Given the description of an element on the screen output the (x, y) to click on. 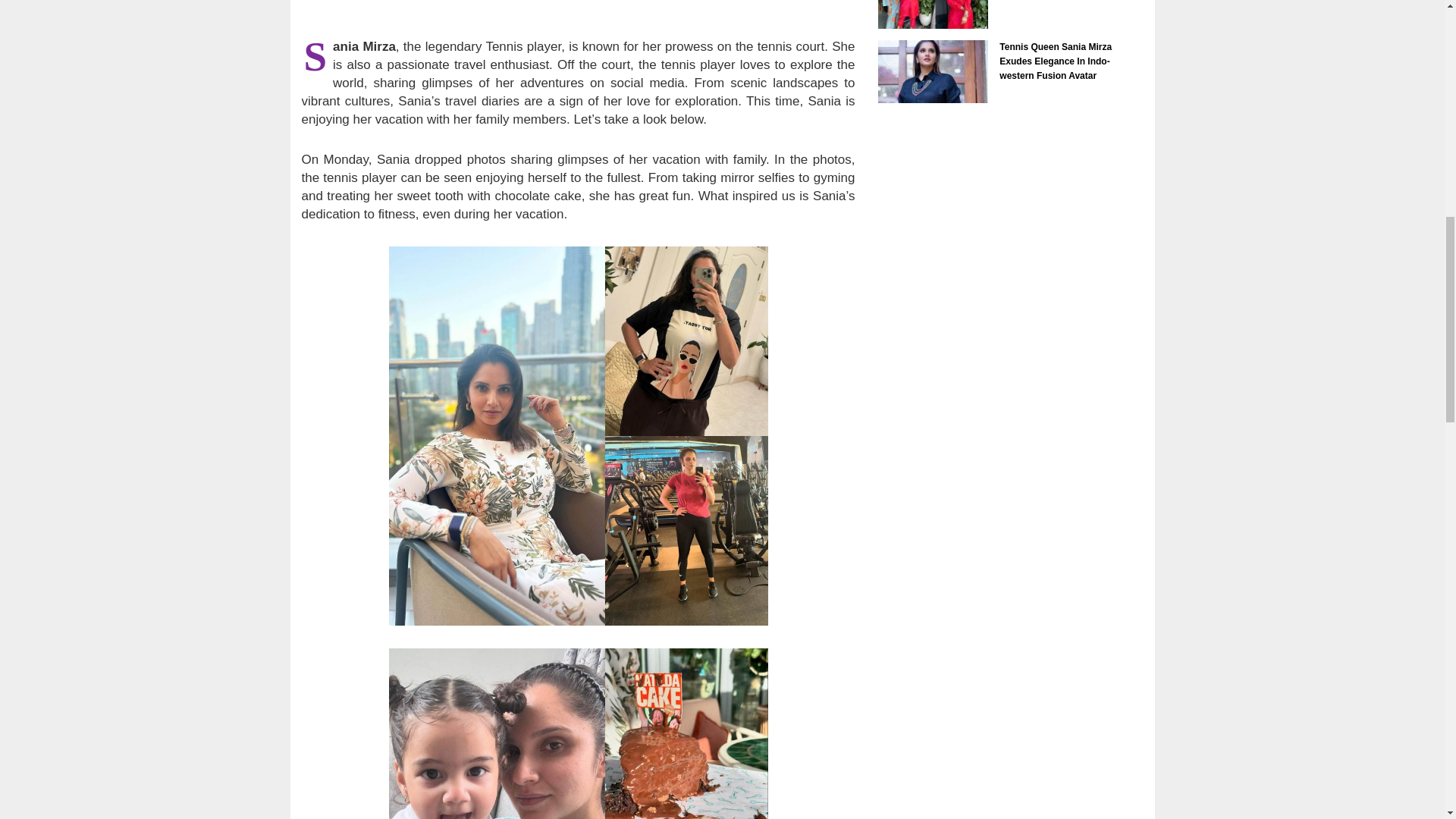
3rd party ad content (577, 11)
